Given the description of an element on the screen output the (x, y) to click on. 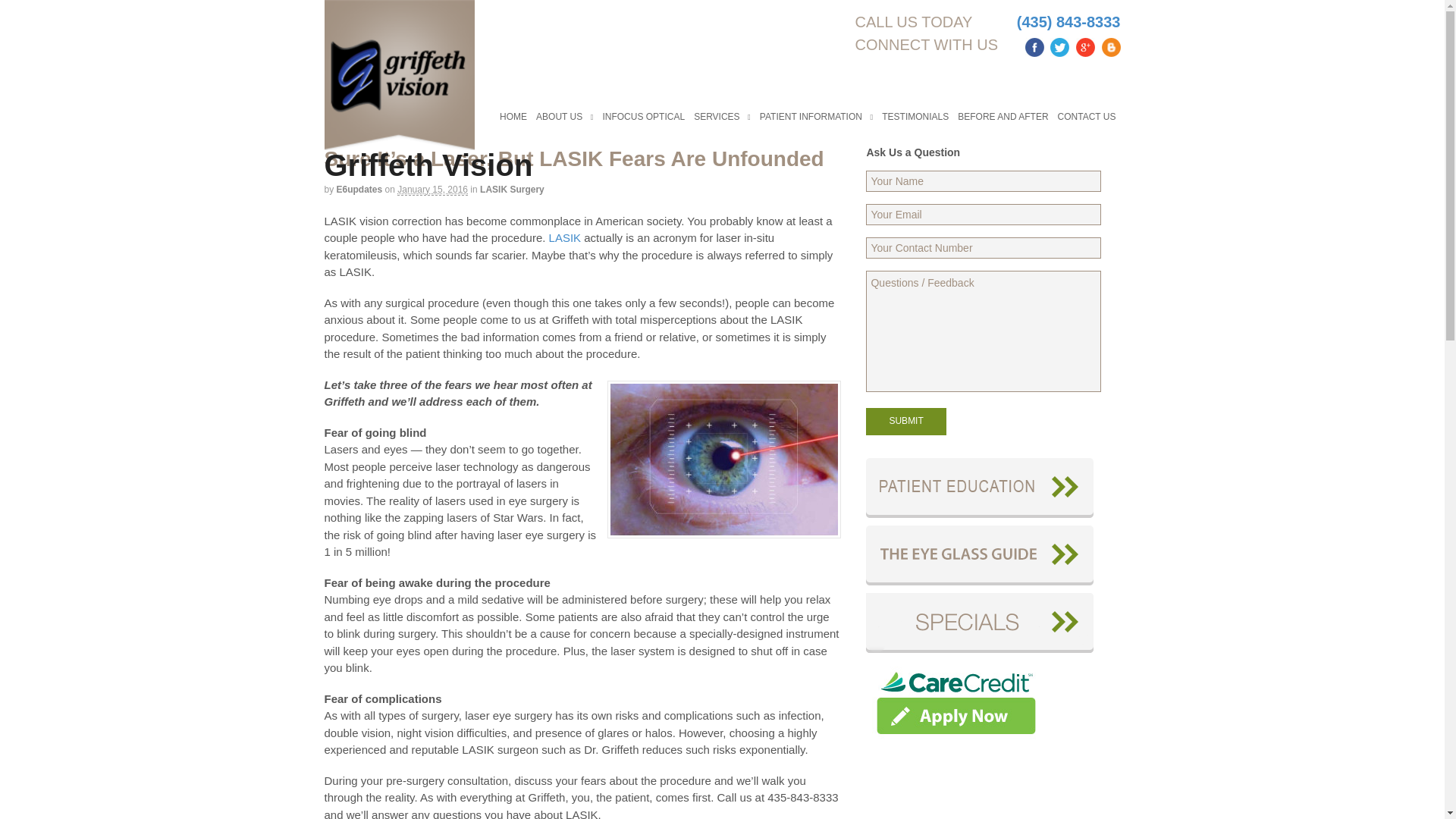
ABOUT US (563, 116)
CONTACT US (1086, 116)
TESTIMONIALS (915, 116)
INFOCUS OPTICAL (642, 116)
Griffeth Vision (428, 164)
Your Name (983, 180)
E6updates (359, 189)
SERVICES (721, 116)
Submit (905, 420)
Posts by e6updates (359, 189)
